Given the description of an element on the screen output the (x, y) to click on. 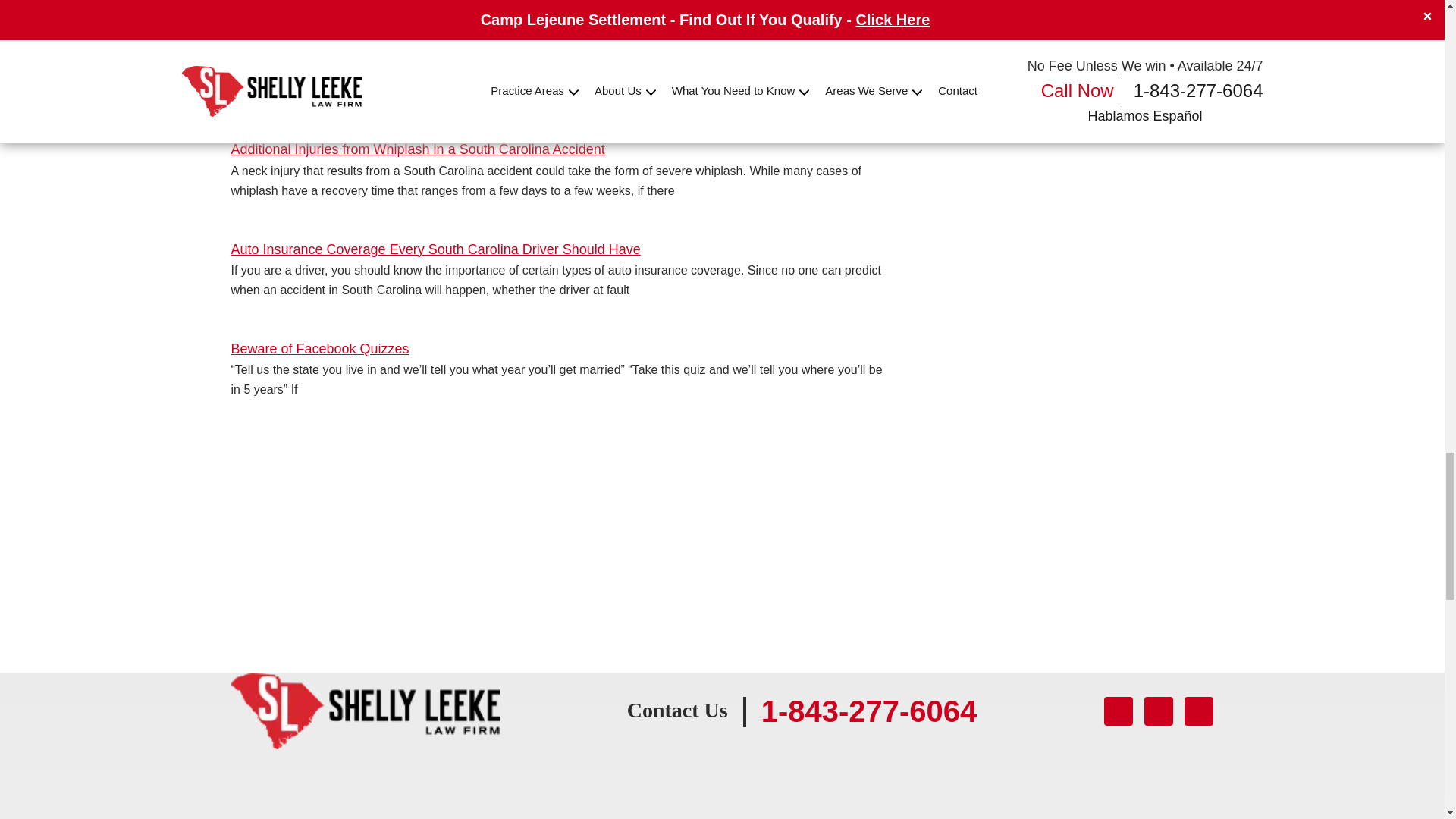
Laywercentral Badge (448, 554)
Shelly Leeke Law Firm, LLC (364, 711)
BBB Accredited Leeke Law (812, 554)
Fortyunder40 Badge (721, 554)
Shelly Leeke Law Firm, LLC (364, 683)
Super Lawyers Badge (539, 554)
Roaring Twenties Badge (630, 554)
sc association Badge (357, 554)
AVVO Badge (266, 554)
